Given the description of an element on the screen output the (x, y) to click on. 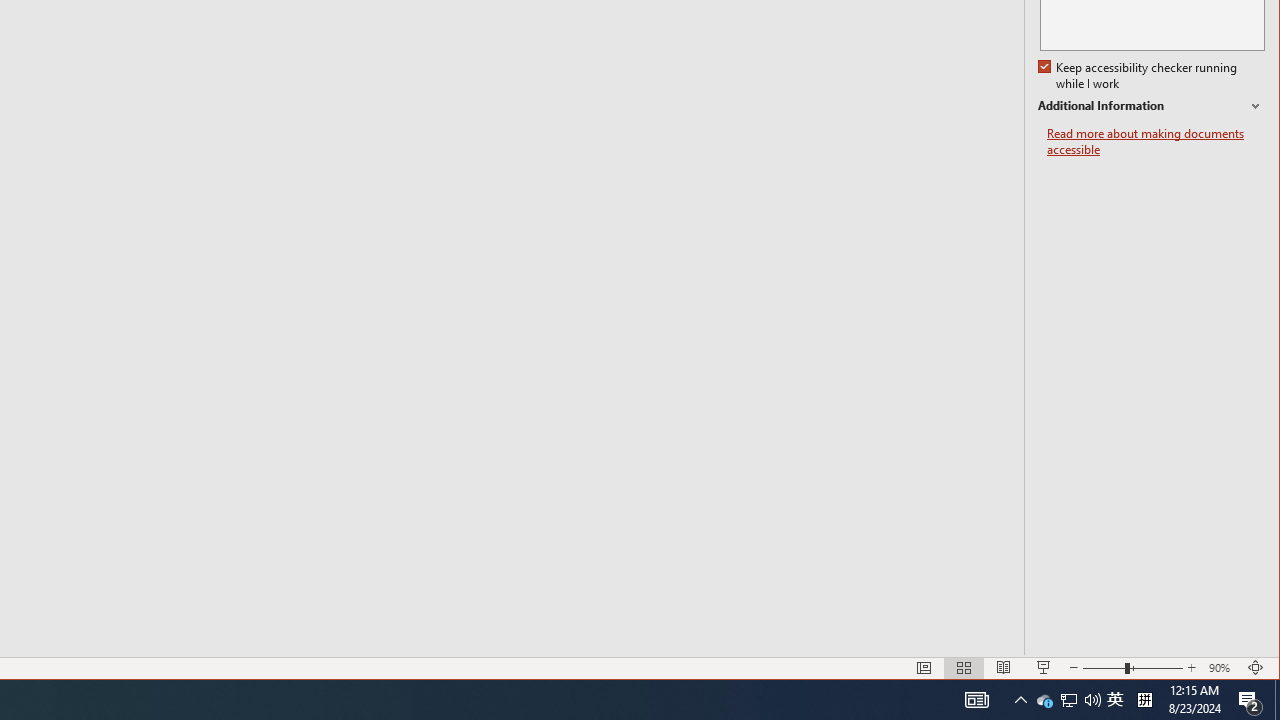
Additional Information (1151, 106)
Zoom 90% (1222, 668)
Keep accessibility checker running while I work (1139, 76)
Read more about making documents accessible (1155, 142)
